Given the description of an element on the screen output the (x, y) to click on. 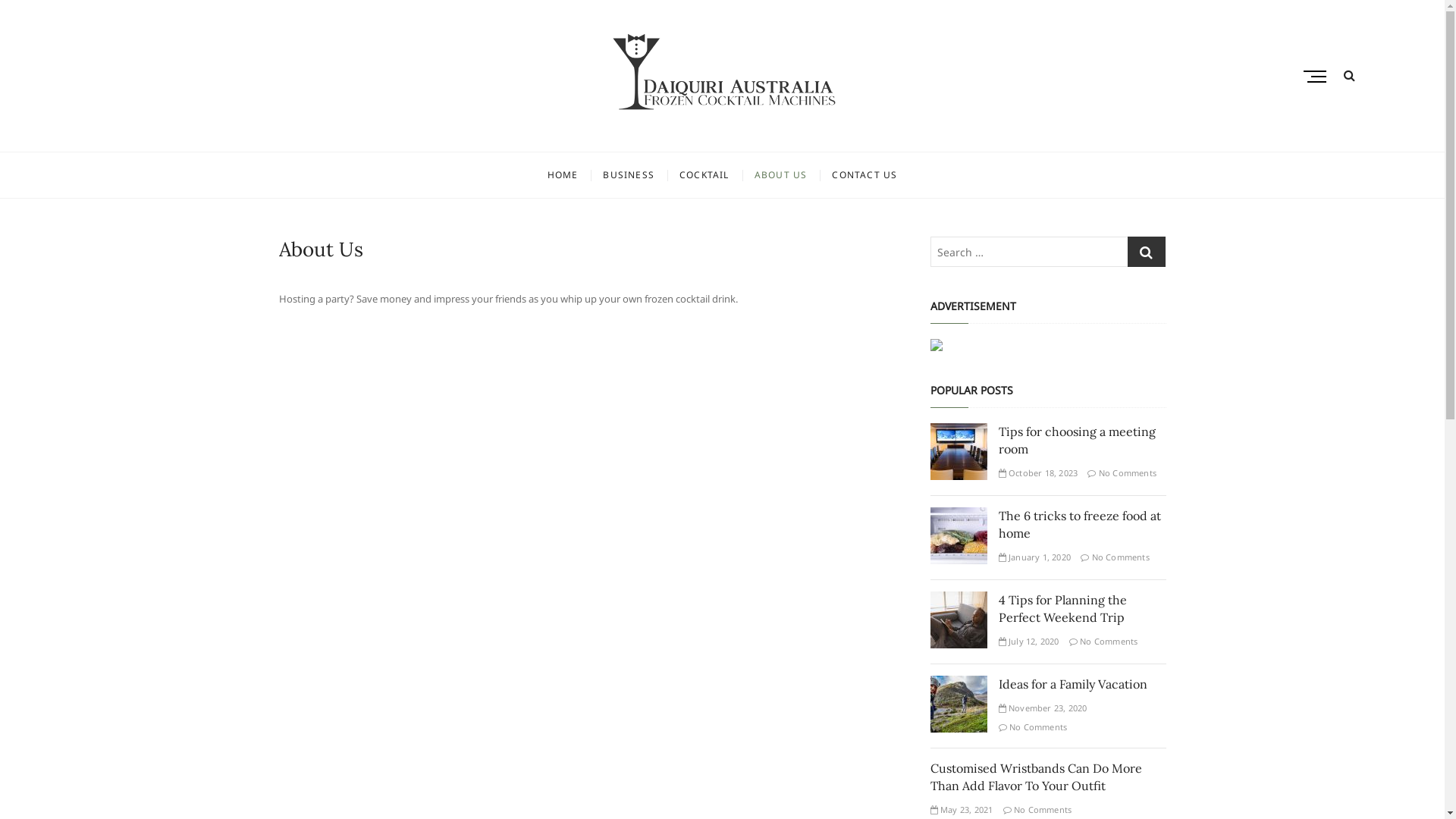
4 Tips for Planning the Perfect Weekend Trip Element type: text (1061, 608)
HOME Element type: text (562, 174)
January 1, 2020 Element type: text (1033, 556)
No Comments Element type: text (1103, 640)
Tips for choosing a meeting room Element type: hover (957, 432)
CONTACT US Element type: text (864, 174)
July 12, 2020 Element type: text (1027, 640)
No Comments Element type: text (1114, 556)
The 6 tricks to freeze food at home Element type: text (1078, 524)
October 18, 2023 Element type: text (1037, 472)
No Comments Element type: text (1031, 726)
Tips for choosing a meeting room Element type: text (1075, 439)
Menu Button Element type: text (1318, 75)
BUSINESS Element type: text (628, 174)
Ideas for a Family Vacation Element type: hover (957, 684)
Ideas for a Family Vacation Element type: text (1071, 683)
Daiquiri Australia Element type: text (412, 137)
No Comments Element type: text (1121, 472)
May 23, 2021 Element type: text (960, 809)
No Comments Element type: text (1037, 809)
COCKTAIL Element type: text (704, 174)
ABOUT US Element type: text (781, 174)
4 Tips for Planning the Perfect Weekend Trip Element type: hover (957, 600)
November 23, 2020 Element type: text (1041, 707)
The 6 tricks to freeze food at home Element type: hover (957, 516)
